Given the description of an element on the screen output the (x, y) to click on. 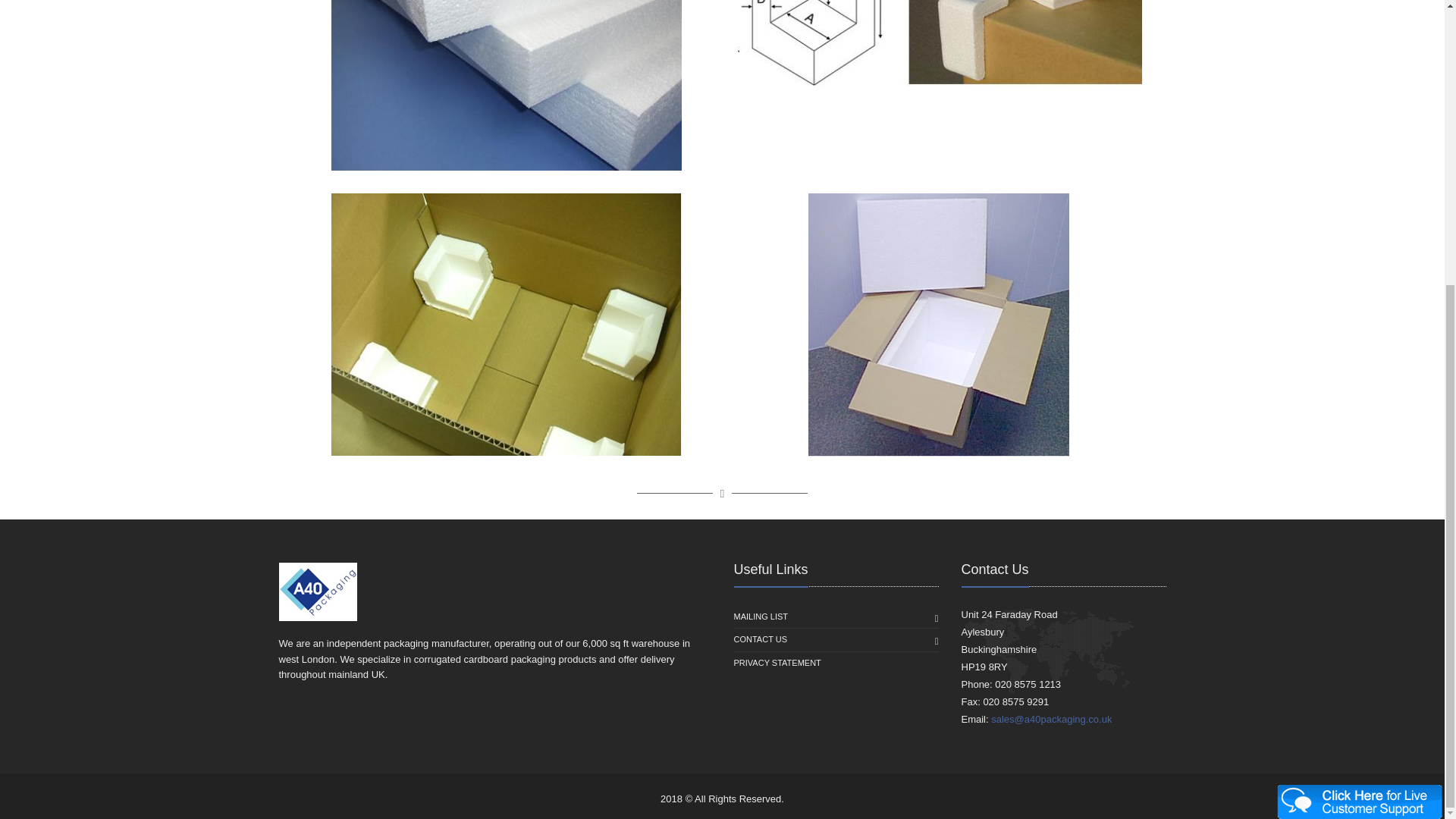
MAILING LIST (761, 617)
CONTACT US (760, 639)
PRIVACY STATEMENT (777, 662)
